Given the description of an element on the screen output the (x, y) to click on. 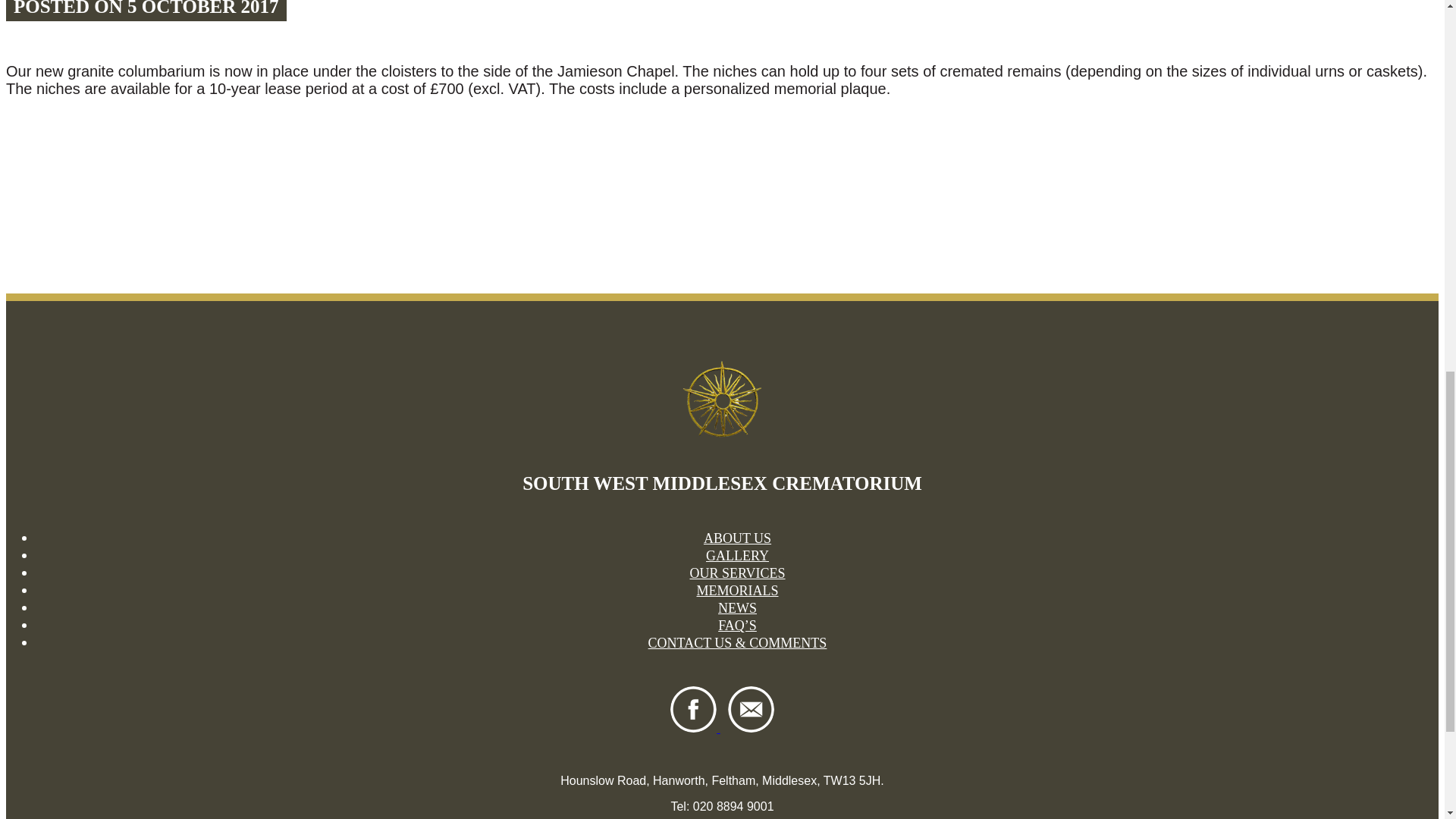
ABOUT US (737, 538)
MEMORIALS (736, 590)
GALLERY (737, 555)
OUR SERVICES (736, 572)
